Given the description of an element on the screen output the (x, y) to click on. 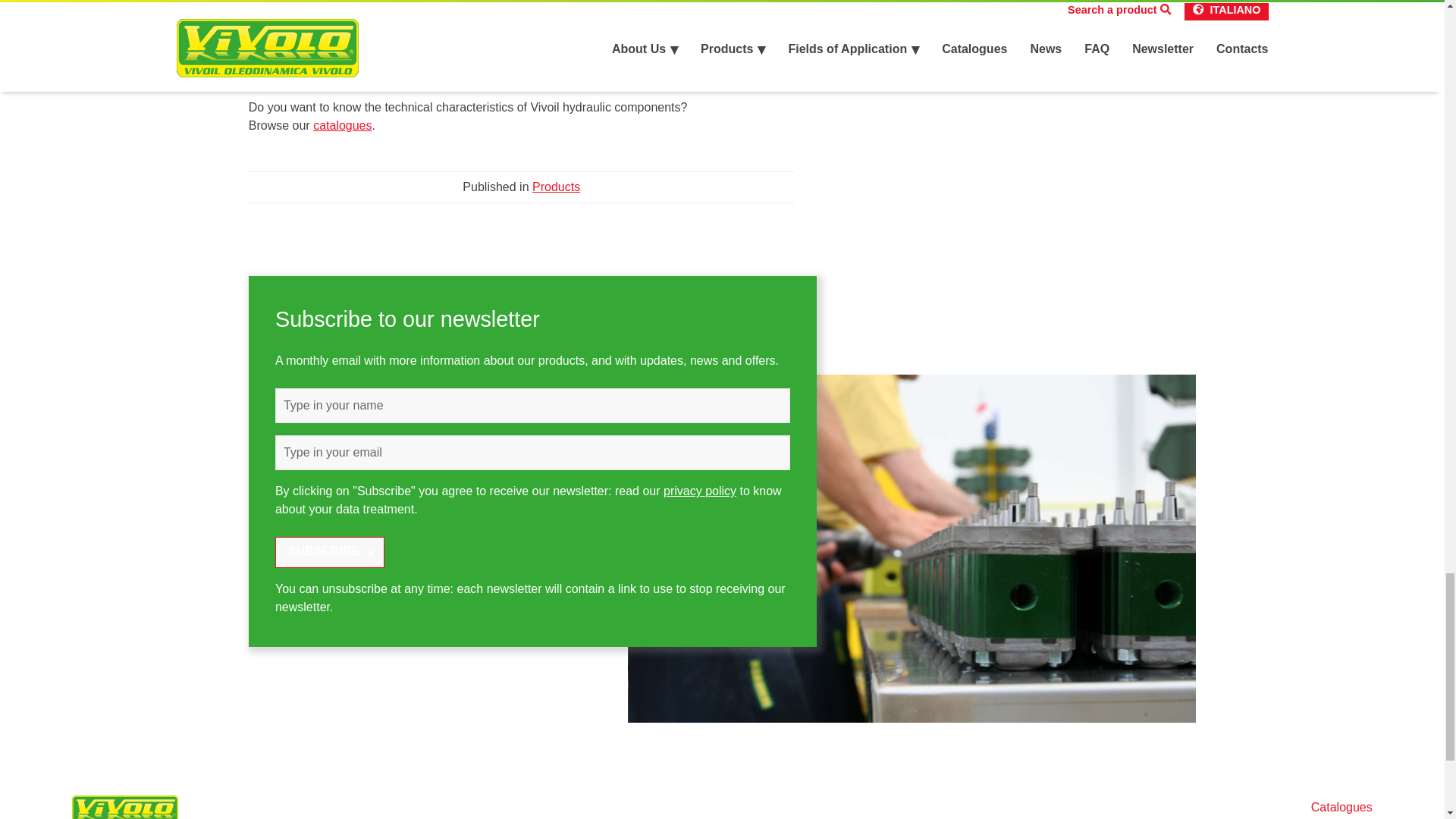
Subscribe (329, 552)
Products (555, 186)
catalogues (342, 124)
